Given the description of an element on the screen output the (x, y) to click on. 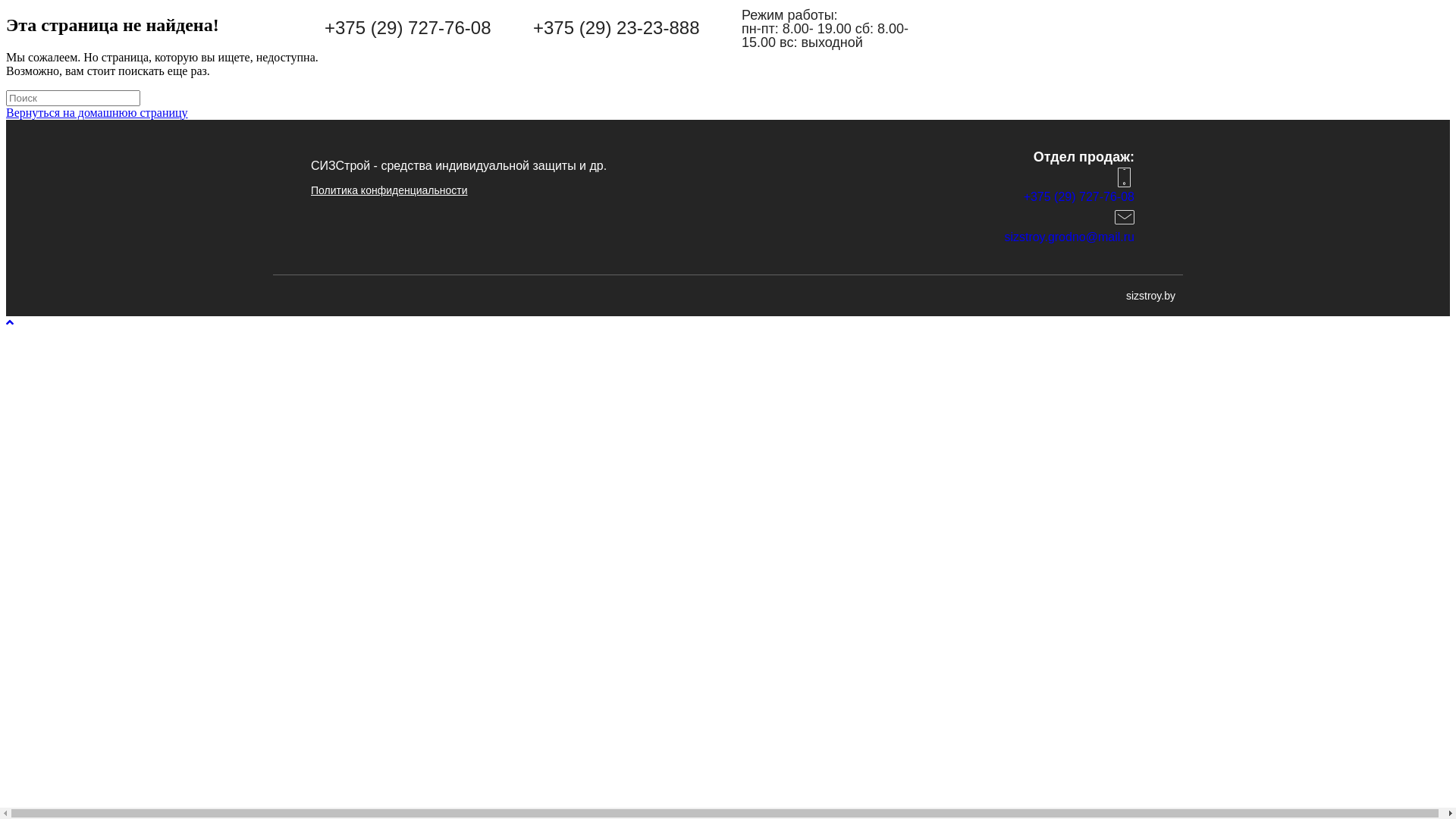
sizstroy.grodno@mail.ru Element type: text (1069, 236)
+375 (29) 23-23-888 Element type: text (616, 27)
+375 (29) 727-76-08 Element type: text (1078, 196)
+375 (29) 727-76-08 Element type: text (407, 27)
